Given the description of an element on the screen output the (x, y) to click on. 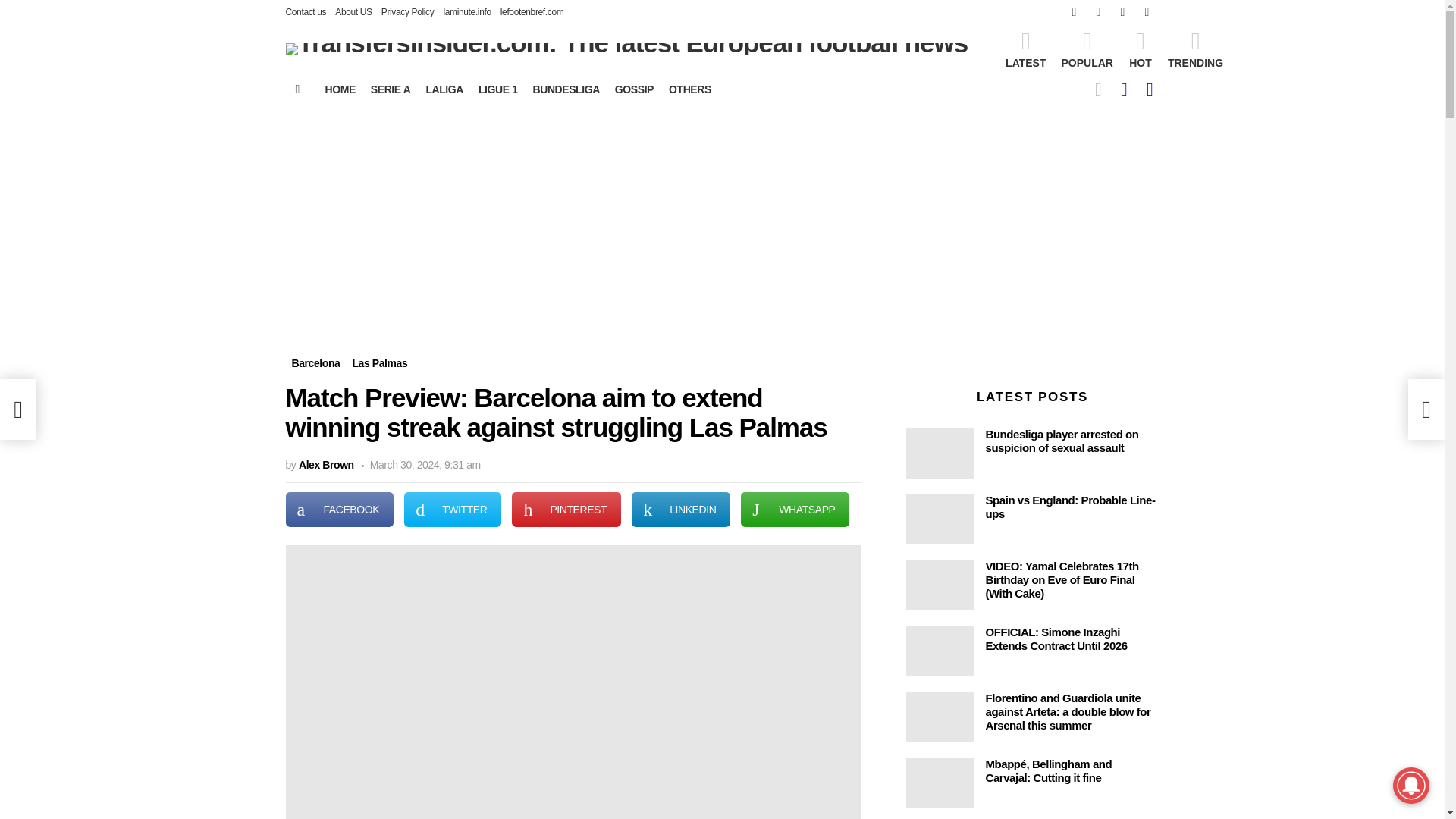
laminute.info (466, 12)
BUNDESLIGA (565, 88)
OTHERS (690, 88)
FACEBOOK (339, 509)
Contact us (305, 12)
LIGUE 1 (497, 88)
TWITTER (452, 509)
facebook (1073, 11)
lefootenbref.com (532, 12)
instagram (1121, 11)
youtube (1146, 11)
LATEST (1024, 48)
Posts by Alex Brown (325, 464)
Privacy Policy (407, 12)
